Given the description of an element on the screen output the (x, y) to click on. 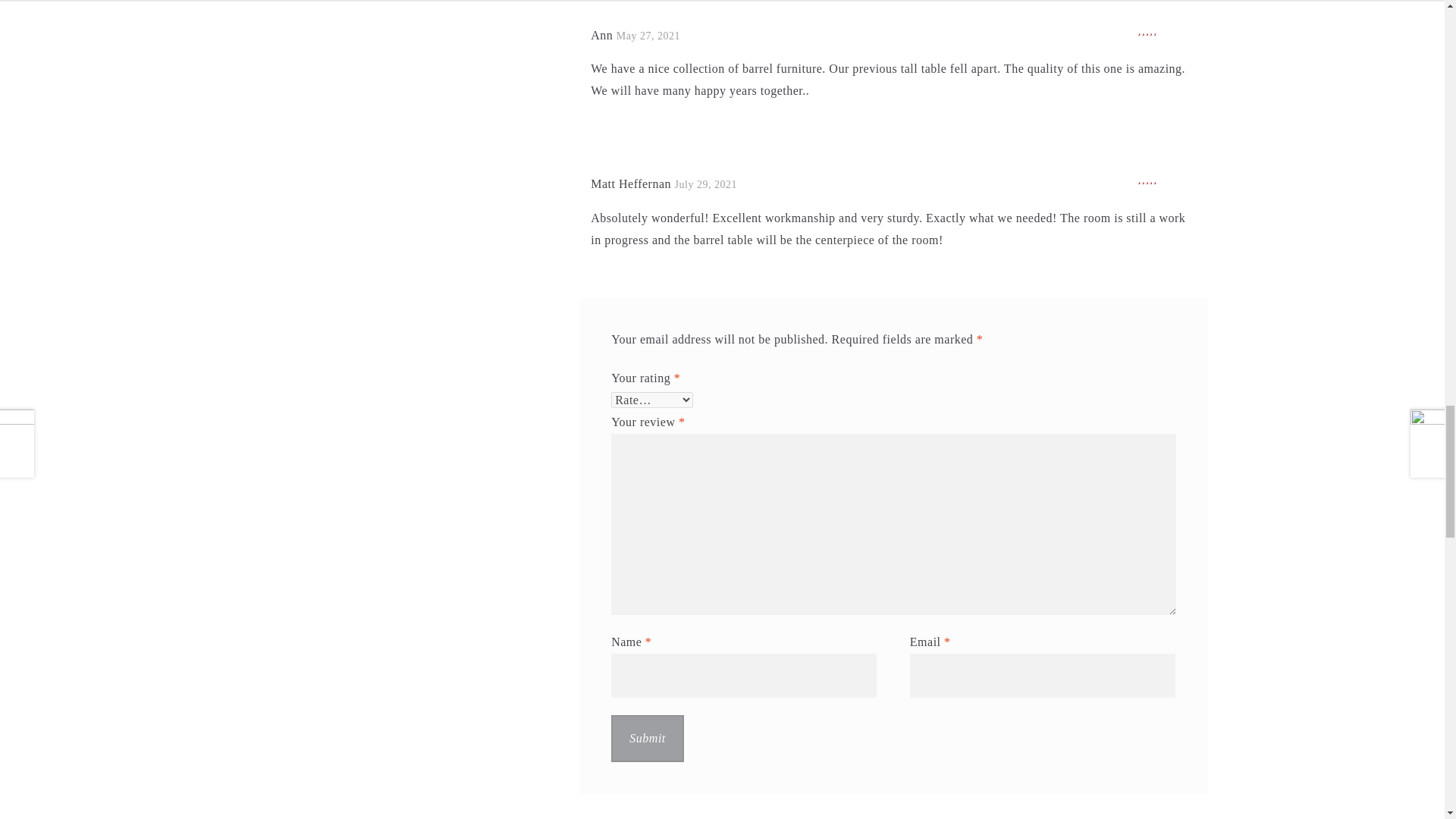
Submit (647, 738)
Submit (647, 738)
